Given the description of an element on the screen output the (x, y) to click on. 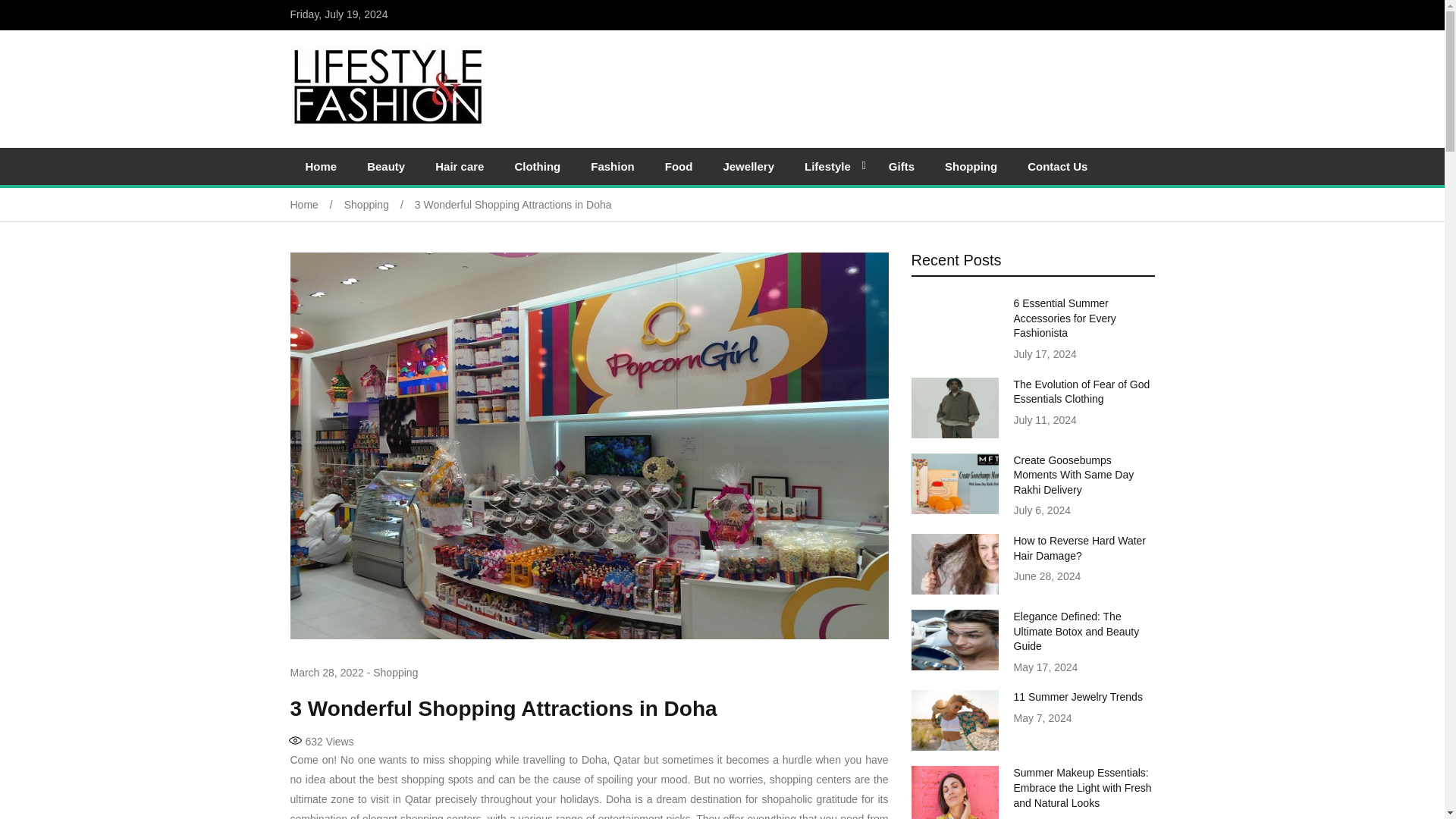
Contact Us (1056, 166)
Lifestyle (831, 166)
Shopping (378, 204)
Gifts (901, 166)
Home (320, 166)
Clothing (537, 166)
Jewellery (748, 166)
Shopping (394, 672)
Food (678, 166)
Beauty (386, 166)
Fashion (612, 166)
March 28, 2022 (325, 672)
Hair care (459, 166)
Shopping (970, 166)
Home (316, 204)
